Given the description of an element on the screen output the (x, y) to click on. 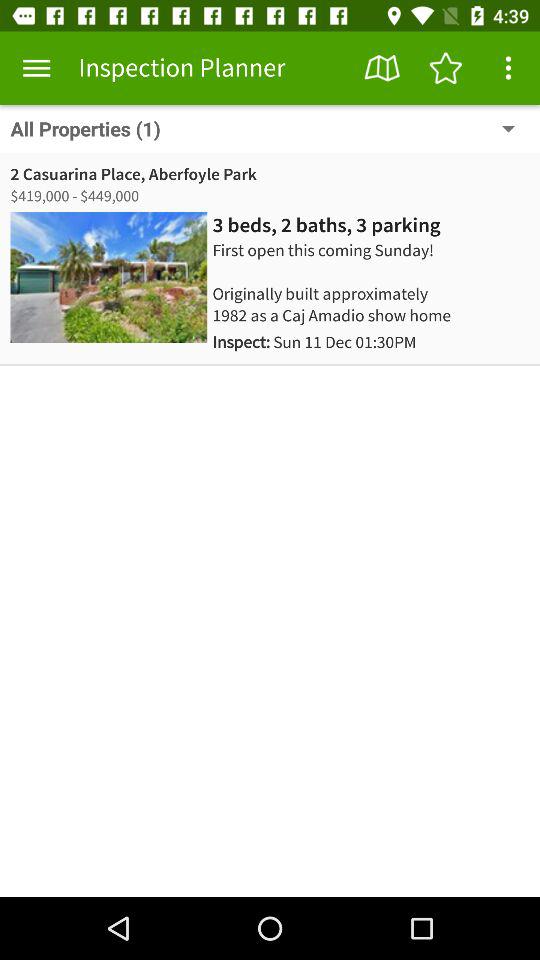
access pulldown menu (508, 67)
